Given the description of an element on the screen output the (x, y) to click on. 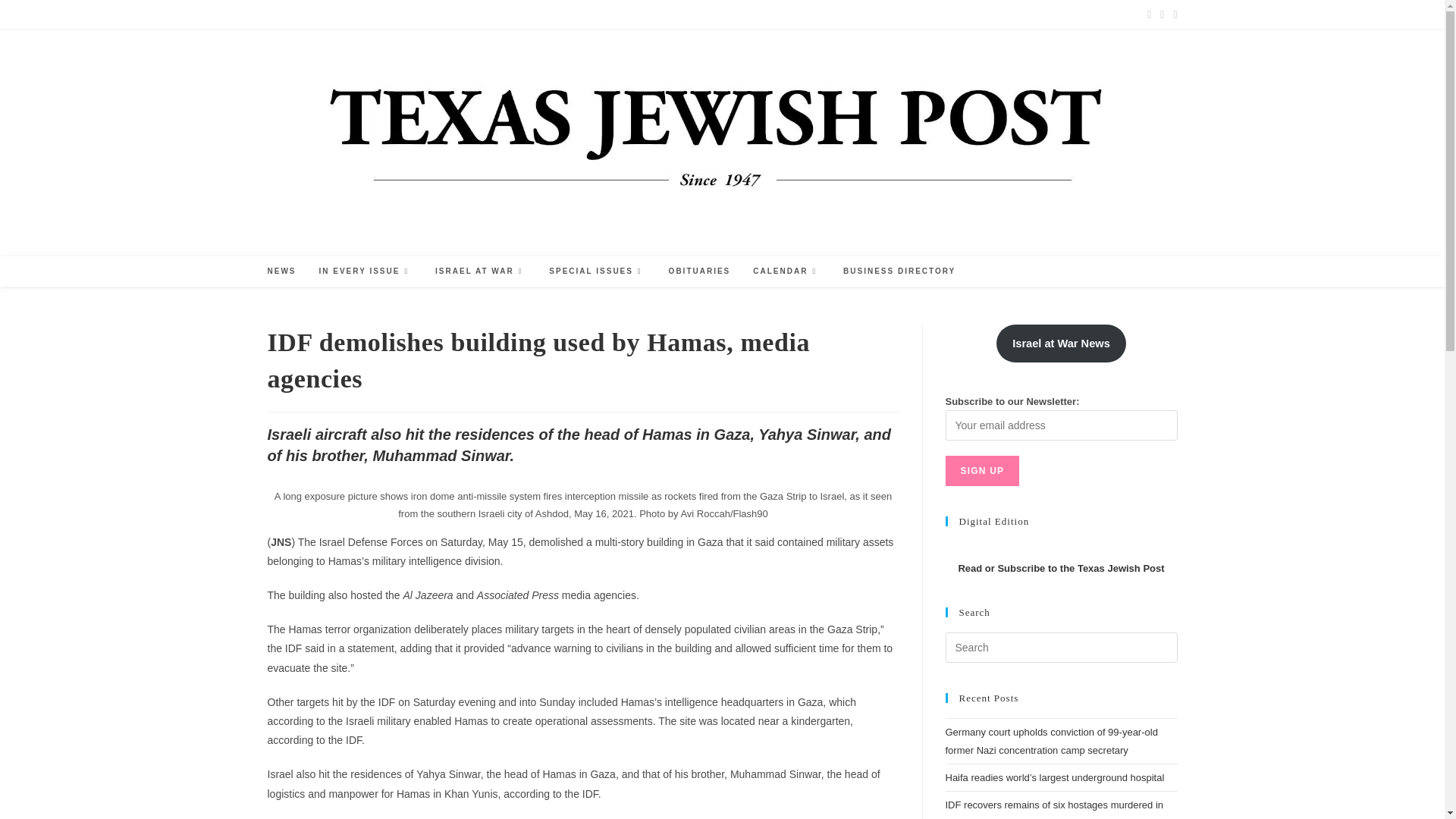
Sign up (981, 470)
Advertise (285, 13)
Newsletter (586, 13)
Read or Subscribe to the Texas Jewish Post e-Edition (1060, 568)
CALENDAR (786, 271)
SPECIAL ISSUES (596, 271)
Submit Your News (405, 13)
ISRAEL AT WAR (480, 271)
Synagogues (527, 13)
BUSINESS DIRECTORY (898, 271)
